Given the description of an element on the screen output the (x, y) to click on. 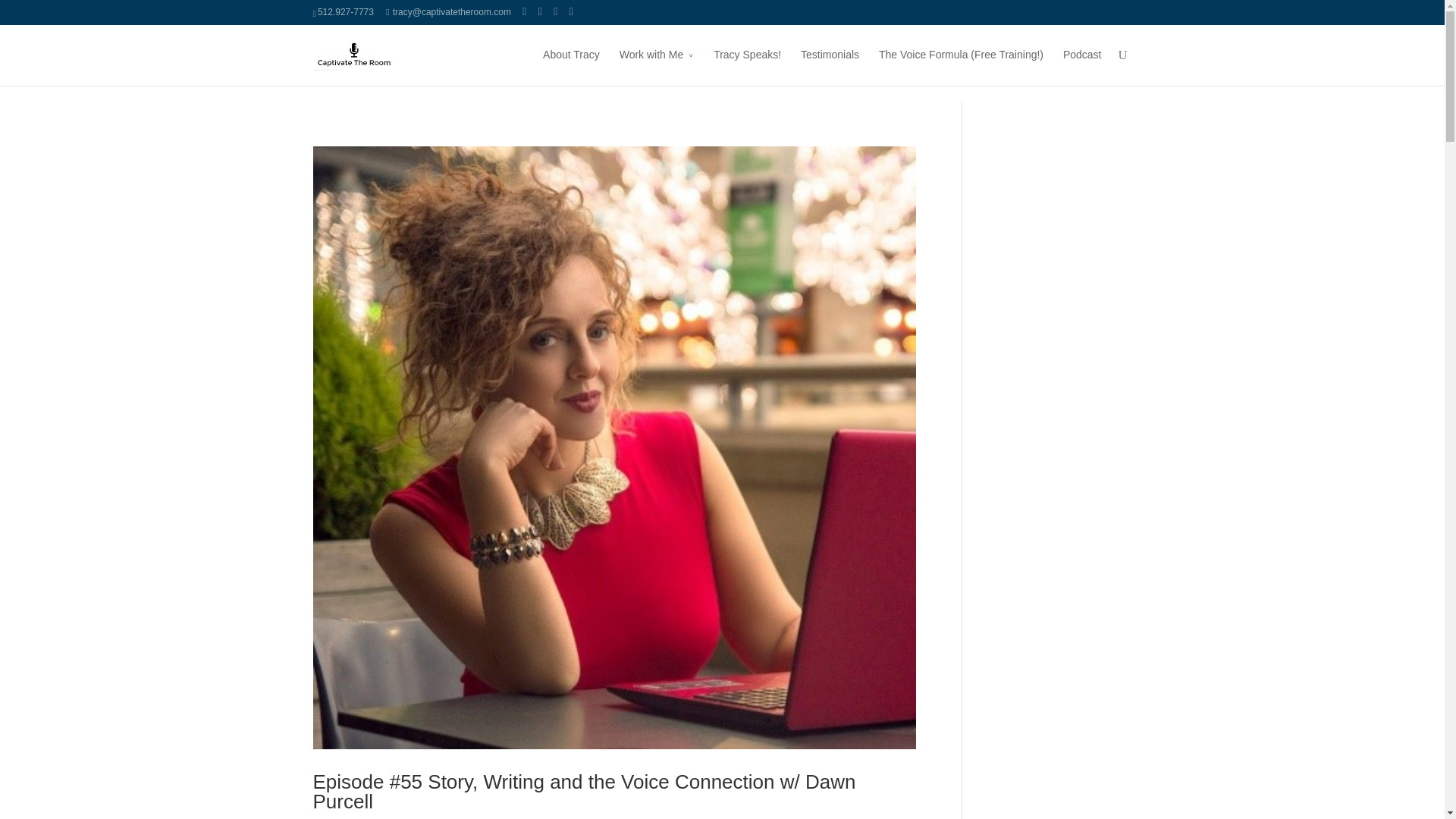
Tracy Speaks! (746, 65)
About Tracy (571, 65)
Work with Me (657, 65)
Podcast (1082, 65)
Testimonials (829, 65)
